Given the description of an element on the screen output the (x, y) to click on. 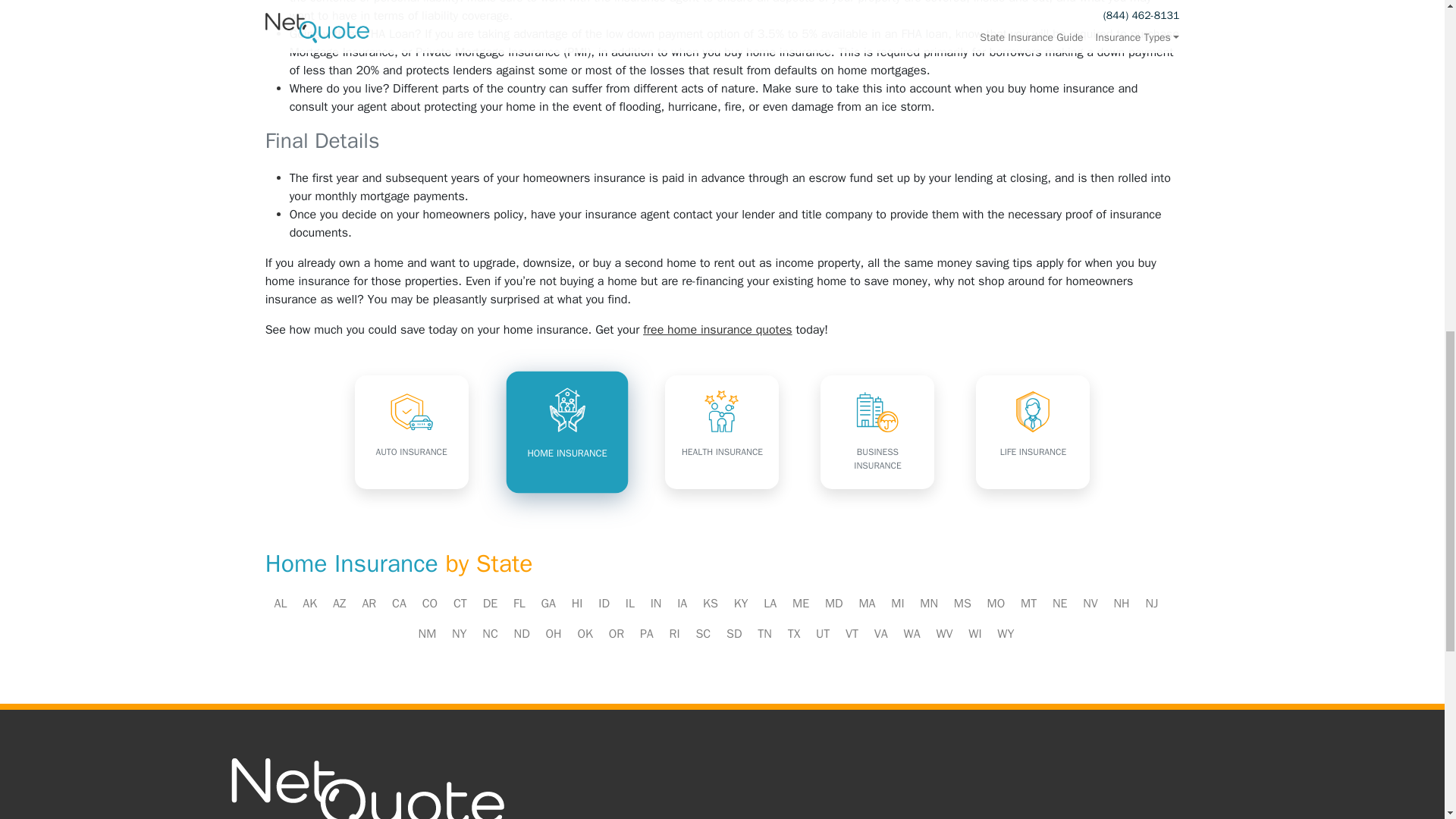
NV (1090, 603)
FL (519, 603)
IL (630, 603)
HOME INSURANCE (562, 428)
AK (309, 603)
free home insurance quotes (717, 329)
OR (616, 633)
NY (459, 633)
ME (800, 603)
HEALTH INSURANCE (721, 431)
KY (740, 603)
ND (521, 633)
MA (867, 603)
NE (1059, 603)
BUSINESS INSURANCE (877, 431)
